Given the description of an element on the screen output the (x, y) to click on. 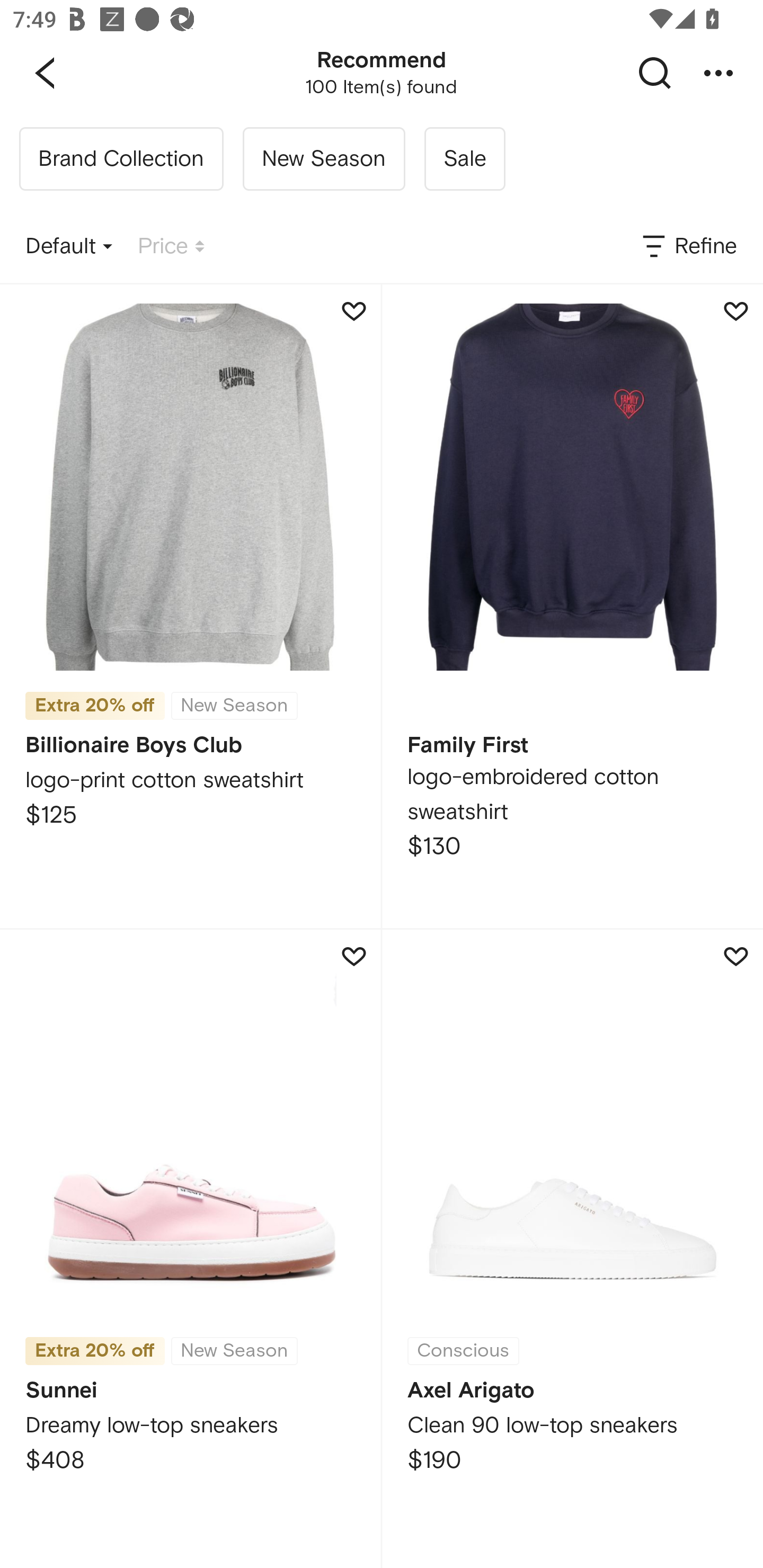
Brand Collection (121, 158)
New Season (323, 158)
Sale (464, 158)
Default (68, 246)
Price (171, 246)
Refine (688, 246)
Extra 20% off (94, 698)
Extra 20% off (94, 1351)
